Given the description of an element on the screen output the (x, y) to click on. 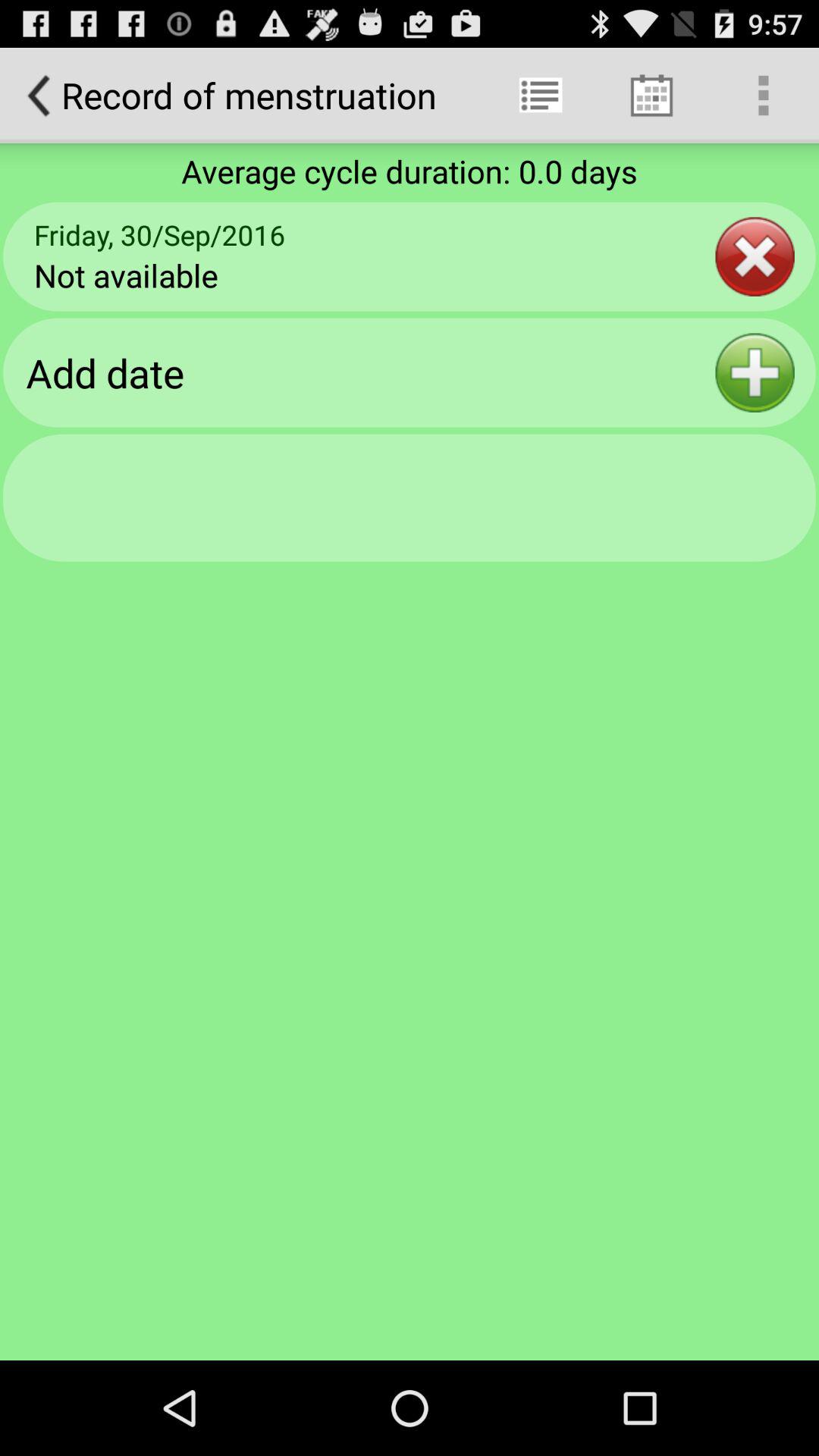
turn on app to the right of the friday 30 sep icon (754, 256)
